Given the description of an element on the screen output the (x, y) to click on. 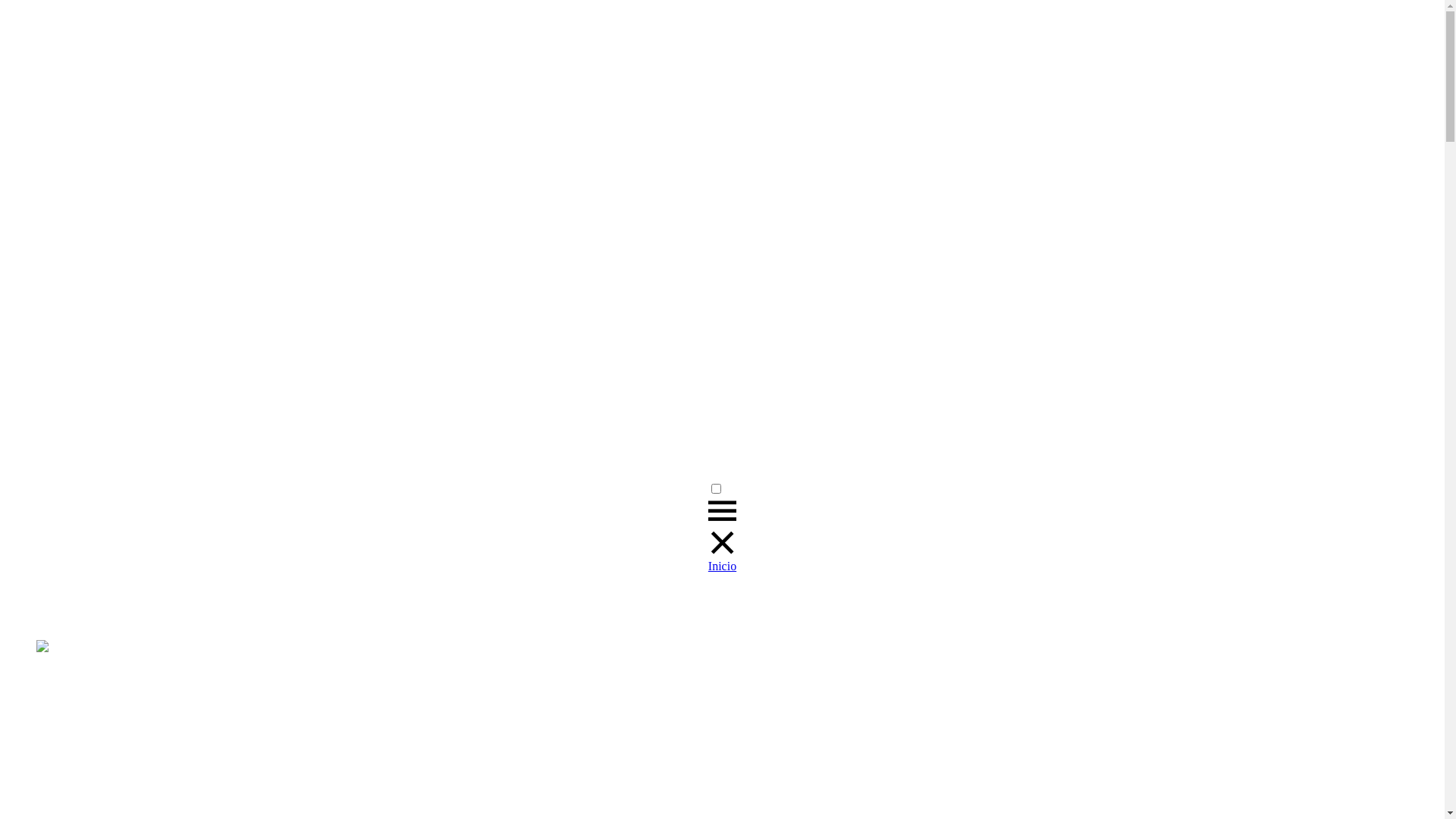
Inicio Element type: text (722, 565)
